Given the description of an element on the screen output the (x, y) to click on. 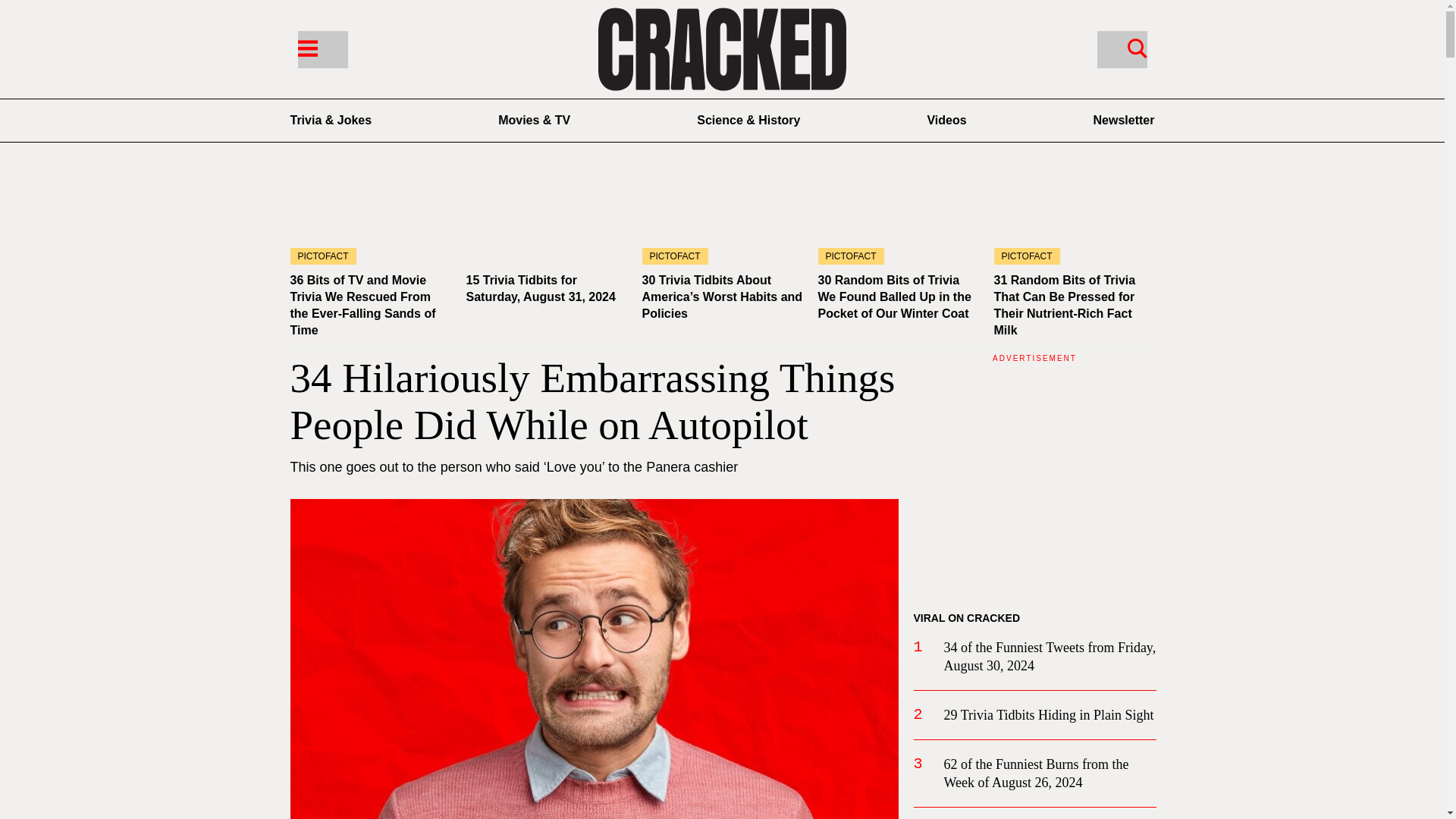
PICTOFACT (722, 219)
Menu (322, 48)
15 Trivia Tidbits for Saturday, August 31, 2024 (545, 219)
PICTOFACT (897, 219)
Menu (307, 47)
PICTOFACT (369, 219)
Videos (946, 119)
Newsletter (1123, 119)
